Given the description of an element on the screen output the (x, y) to click on. 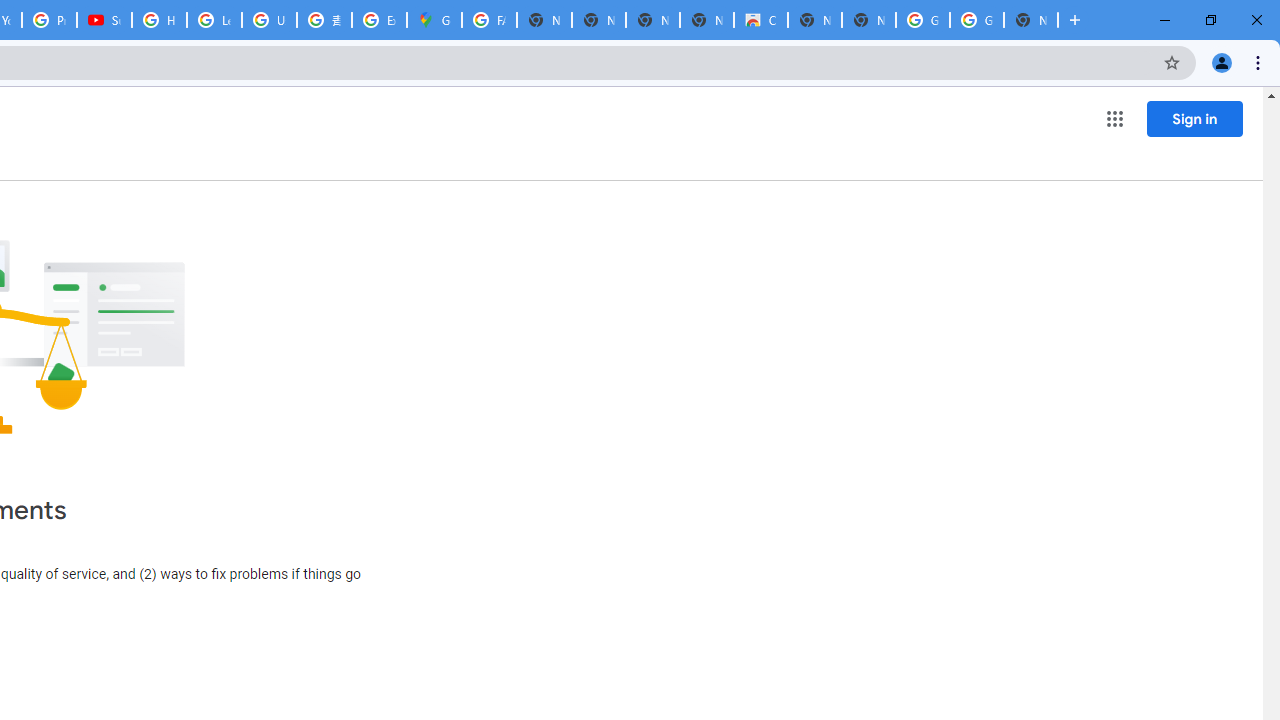
New Tab (1030, 20)
Explore new street-level details - Google Maps Help (379, 20)
Google Maps (434, 20)
Google Images (976, 20)
Chrome Web Store (760, 20)
How Chrome protects your passwords - Google Chrome Help (158, 20)
